Given the description of an element on the screen output the (x, y) to click on. 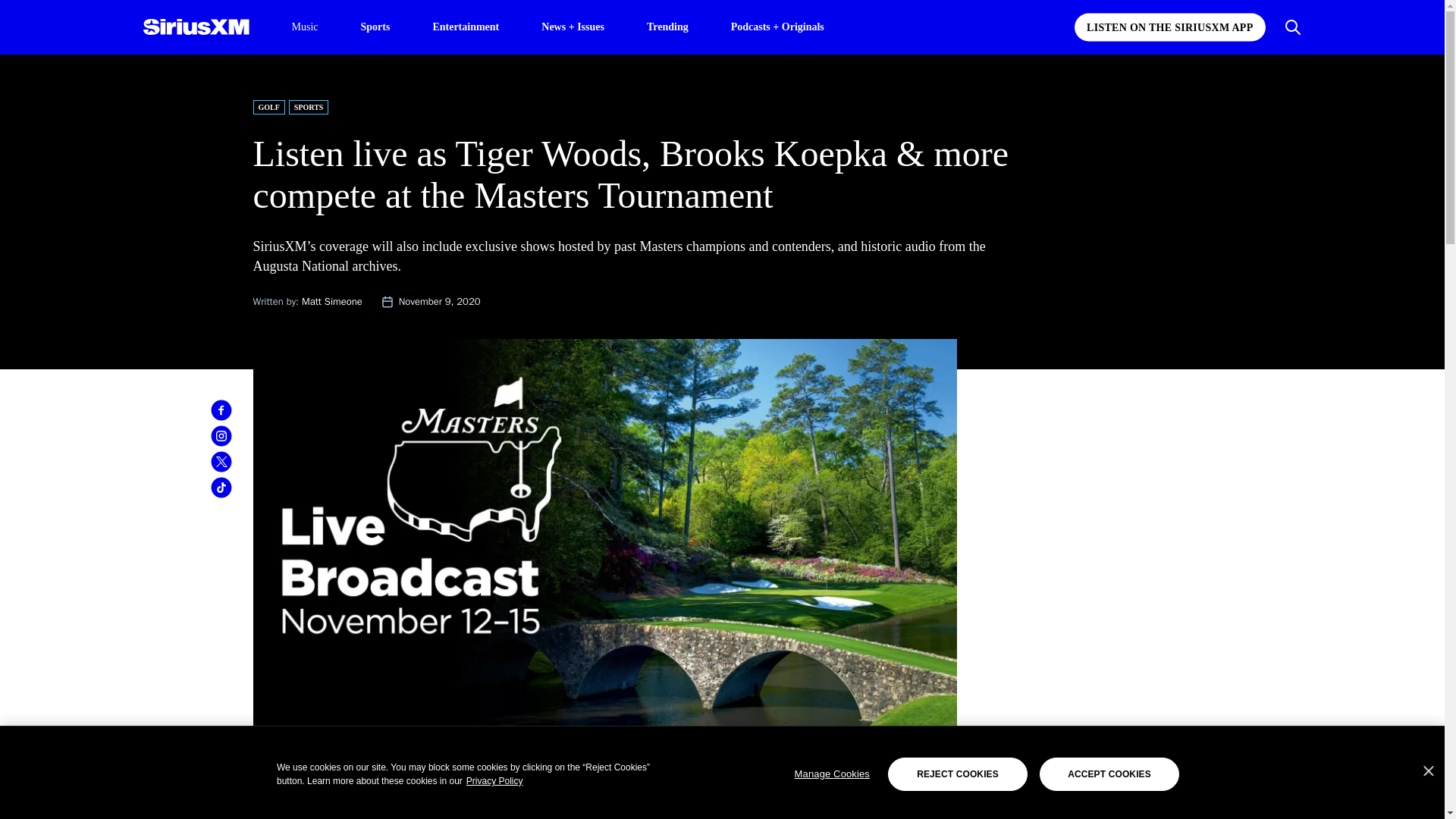
Trending (667, 26)
Entertainment (465, 26)
GOLF (269, 106)
Music (304, 26)
SPORTS (308, 106)
Matt Simeone (331, 300)
Sports (375, 26)
LISTEN ON THE SIRIUSXM APP (1169, 27)
